Given the description of an element on the screen output the (x, y) to click on. 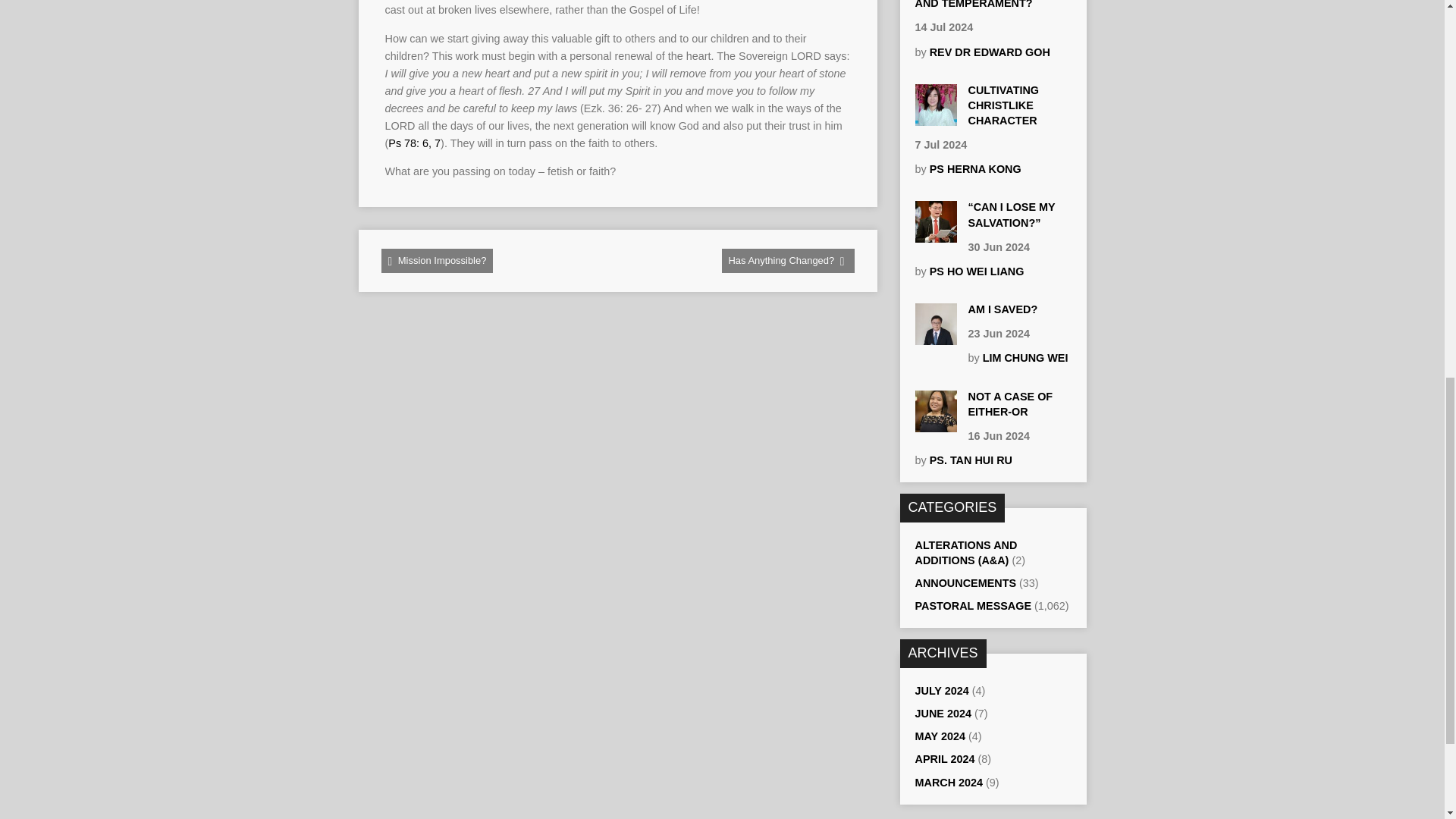
Cultivating Christlike Character (935, 118)
Cultivating Christlike Character (1003, 105)
